Given the description of an element on the screen output the (x, y) to click on. 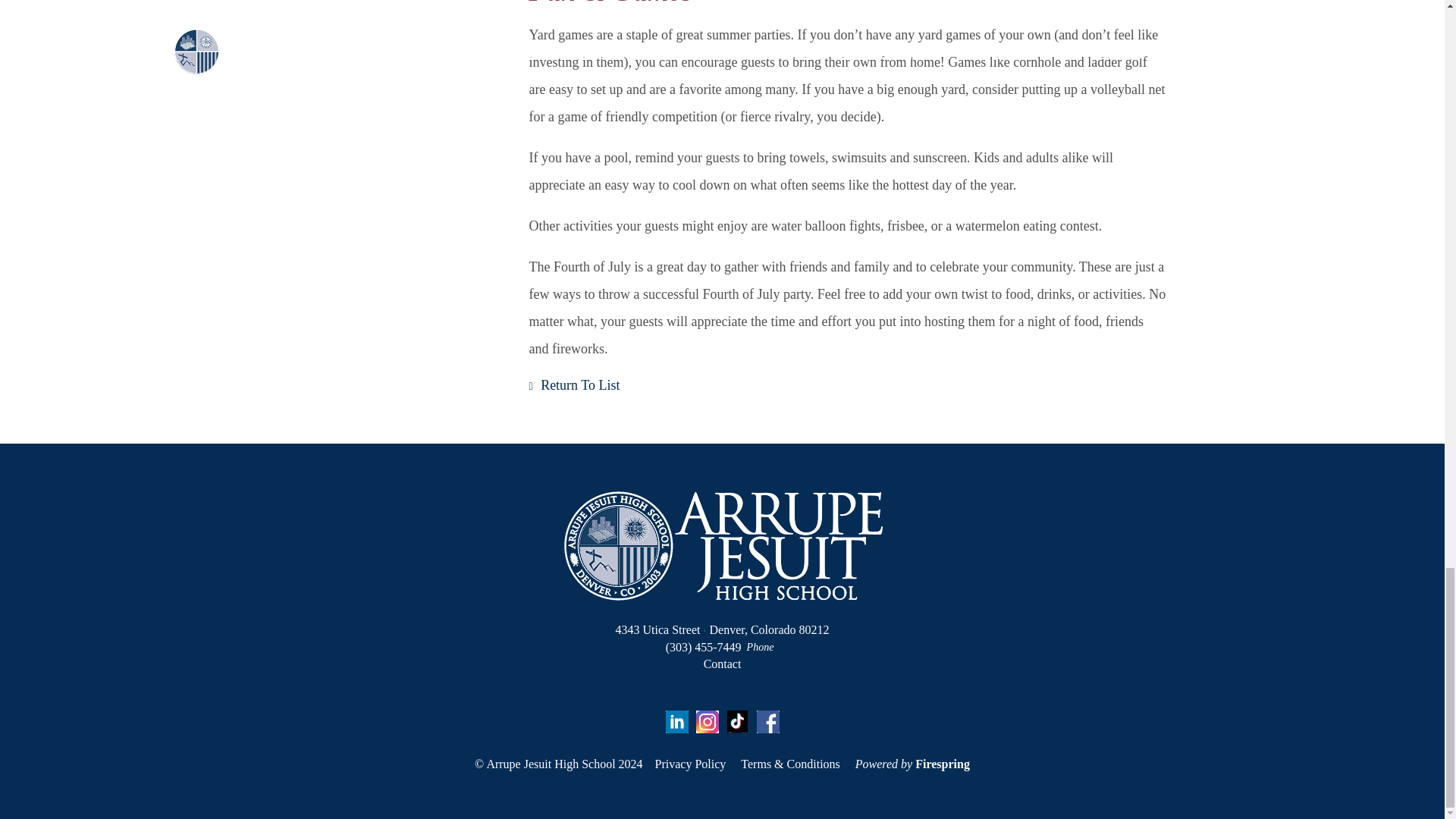
logo (722, 545)
